Given the description of an element on the screen output the (x, y) to click on. 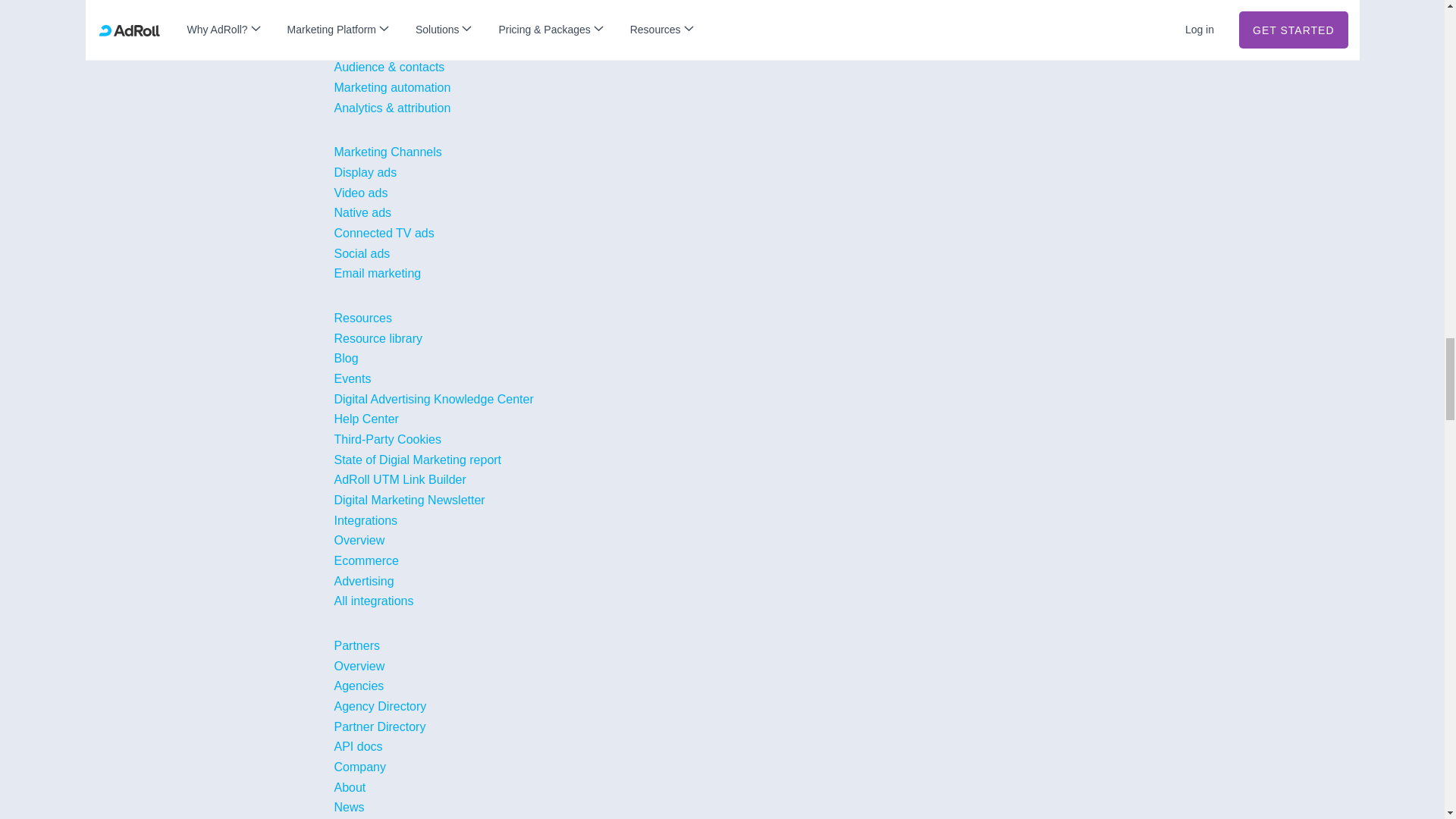
Partners (358, 666)
